Given the description of an element on the screen output the (x, y) to click on. 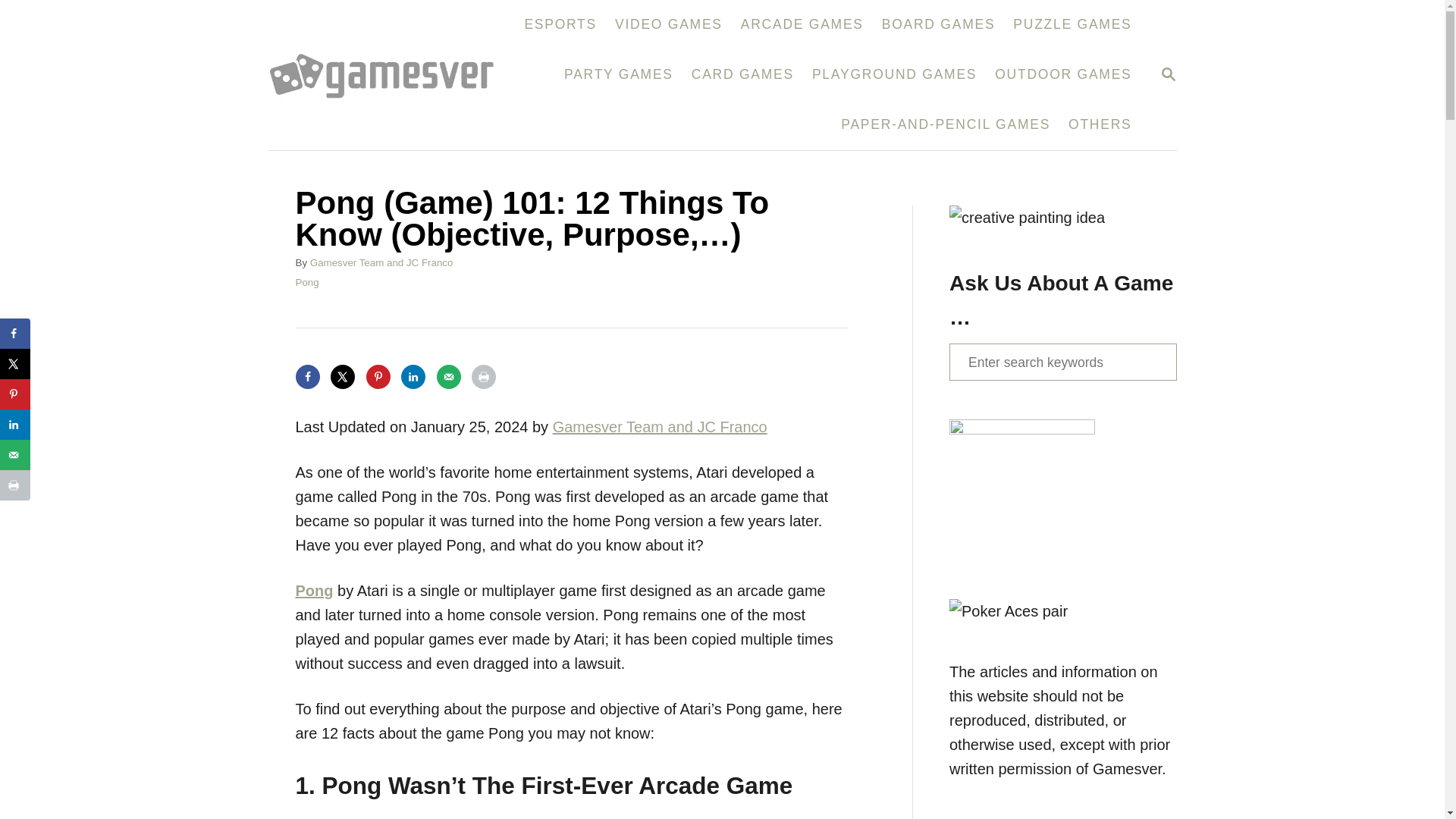
Share on X (15, 363)
Print this webpage (15, 485)
VIDEO GAMES (668, 24)
Share on LinkedIn (413, 376)
Send over email (448, 376)
Gamesver (389, 74)
BOARD GAMES (938, 24)
Send over email (15, 454)
Share on Facebook (1167, 75)
PUZZLE GAMES (15, 333)
MAGNIFYING GLASS (1072, 24)
Save to Pinterest (1167, 74)
Save to Pinterest (15, 394)
ESPORTS (378, 376)
